Given the description of an element on the screen output the (x, y) to click on. 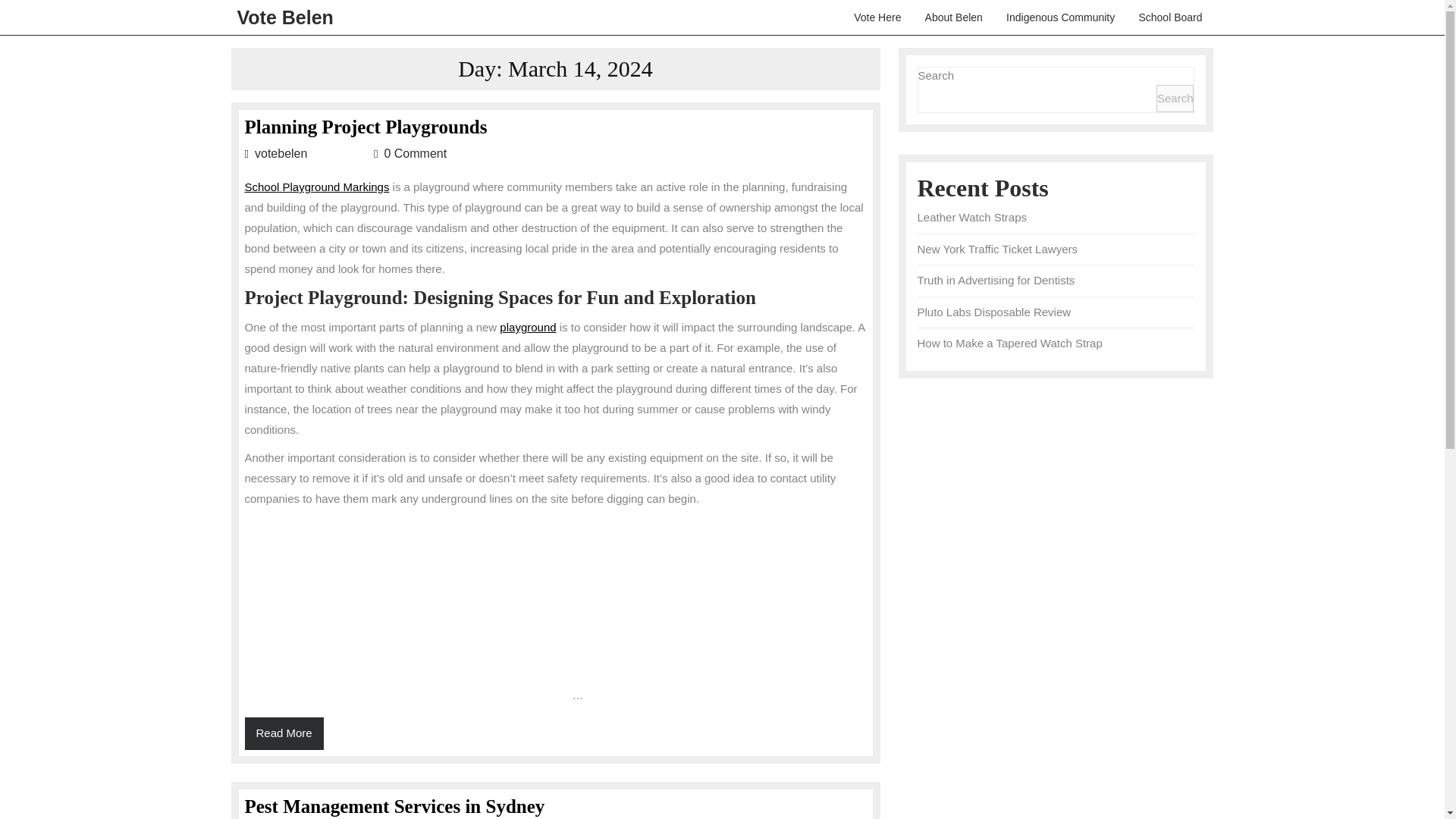
Leather Watch Straps (972, 216)
Search (1174, 99)
votebelenvotebelen (306, 153)
Planning Project Playgrounds (365, 127)
Truth in Advertising for Dentists (996, 279)
Vote Belen (283, 733)
How to Make a Tapered Watch Strap (284, 16)
playground (1009, 342)
About Belen (527, 327)
